Given the description of an element on the screen output the (x, y) to click on. 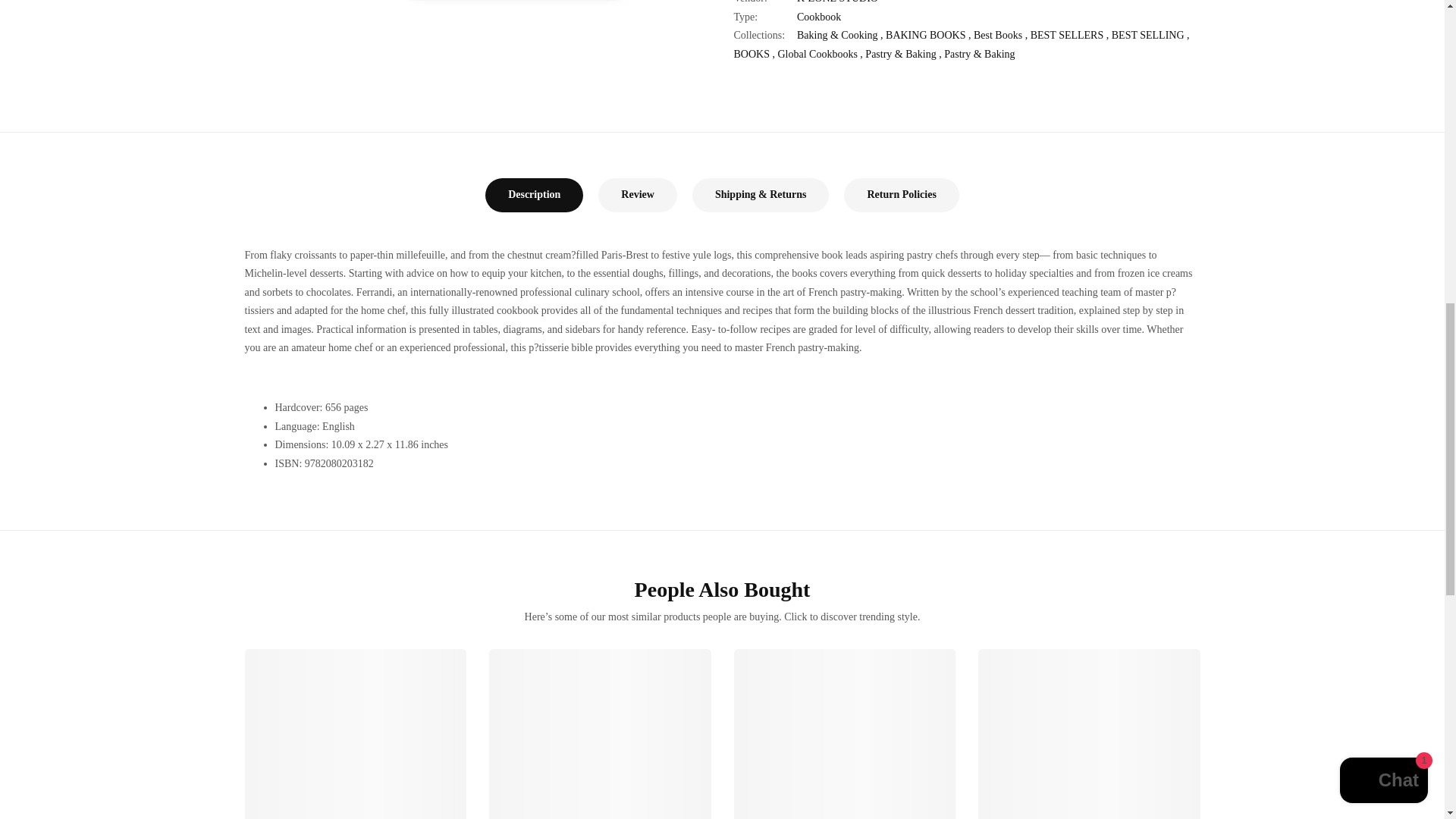
Cookbook (818, 2)
